Given the description of an element on the screen output the (x, y) to click on. 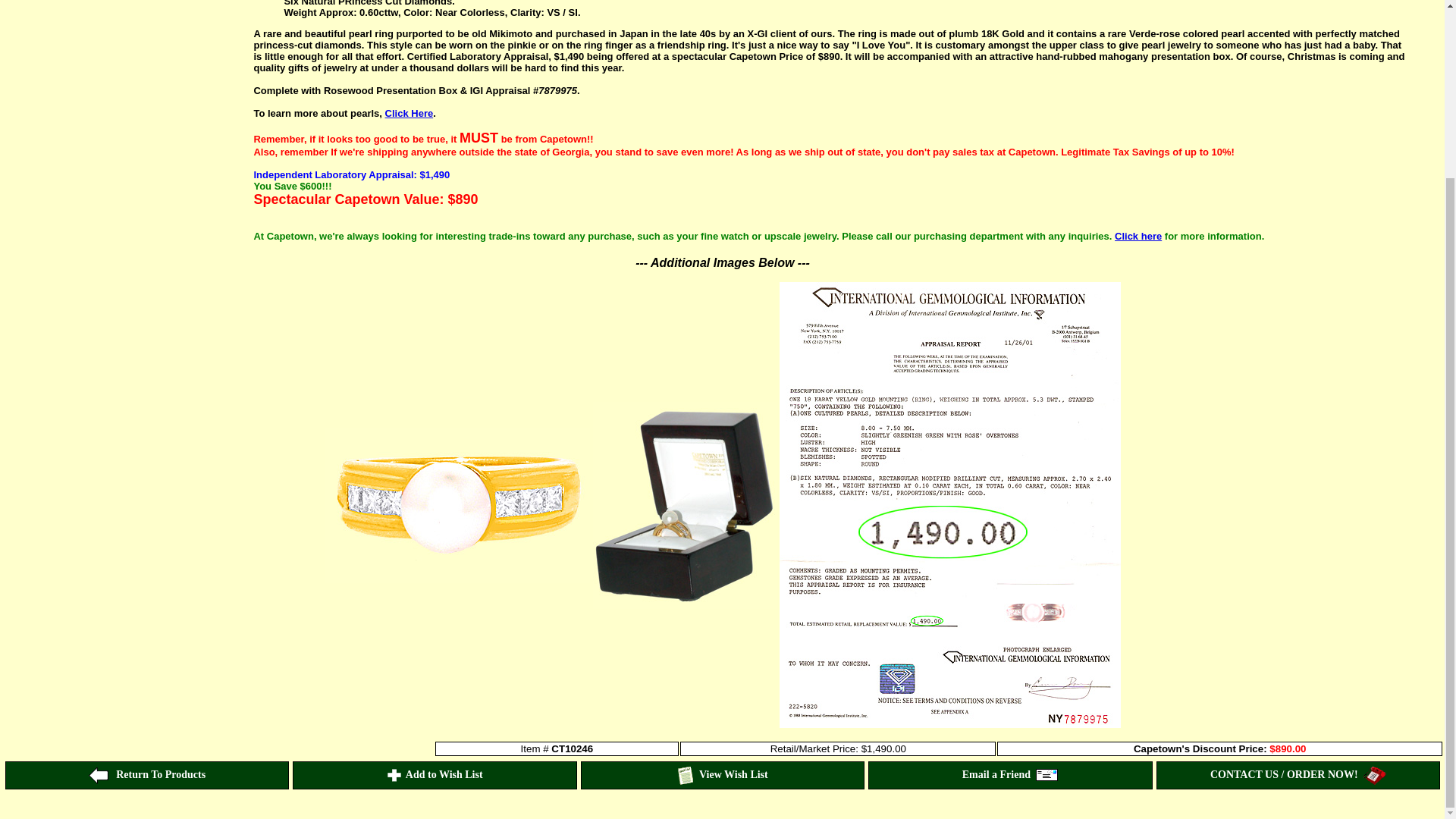
Click here (1138, 235)
  Add to Wish List (434, 775)
  View Wish List (721, 775)
Email a Friend   (1010, 775)
Click Here (409, 112)
  Return To Products (146, 775)
